Given the description of an element on the screen output the (x, y) to click on. 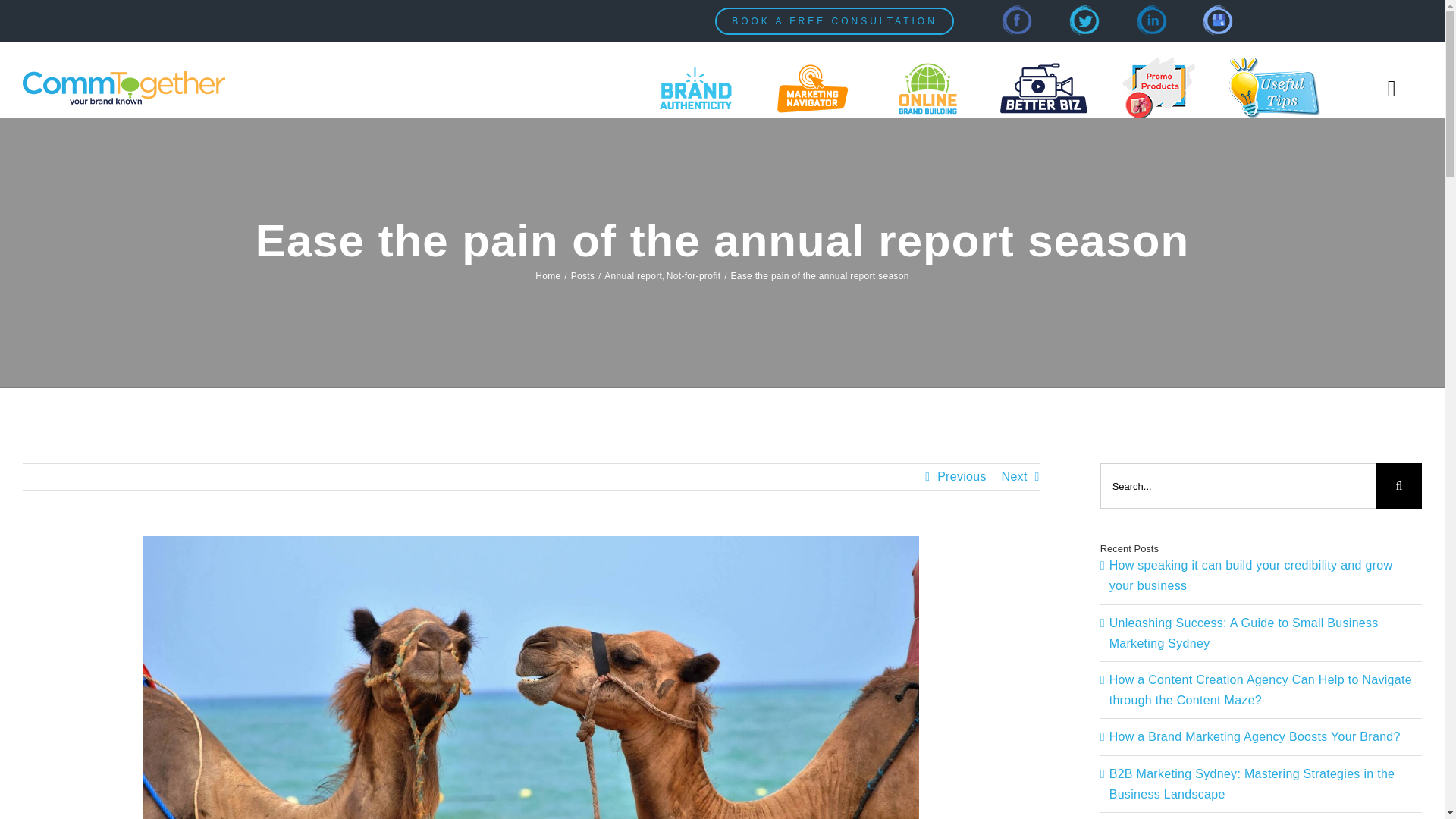
How a Brand Marketing Agency Boosts Your Brand? (1254, 736)
Previous (962, 476)
Next (1014, 476)
BOOK A FREE CONSULTATION (833, 21)
BOOK A FREE CONSULTATION (833, 21)
Not-for-profit (693, 275)
Annual report (633, 275)
Home (547, 275)
Posts (582, 275)
